Given the description of an element on the screen output the (x, y) to click on. 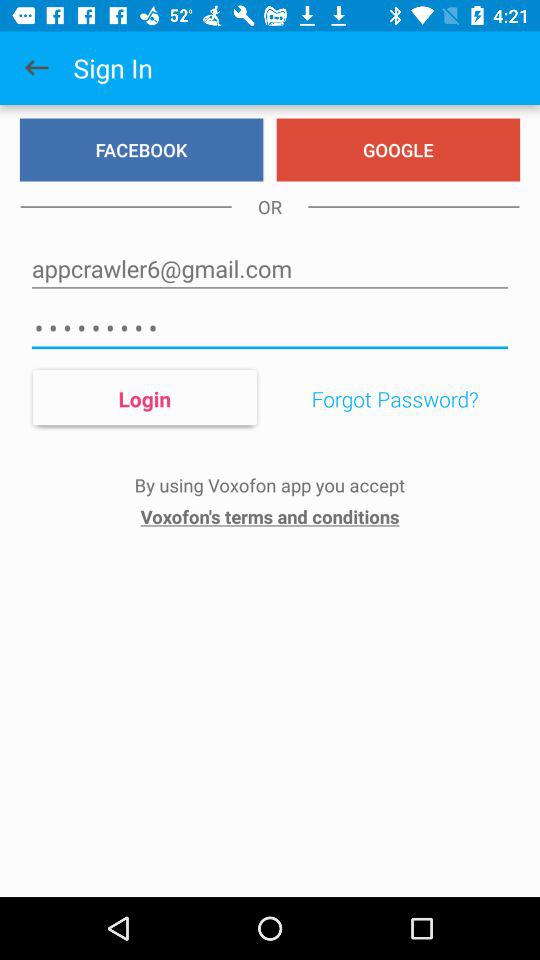
press the appcrawler6@gmail.com item (269, 268)
